Given the description of an element on the screen output the (x, y) to click on. 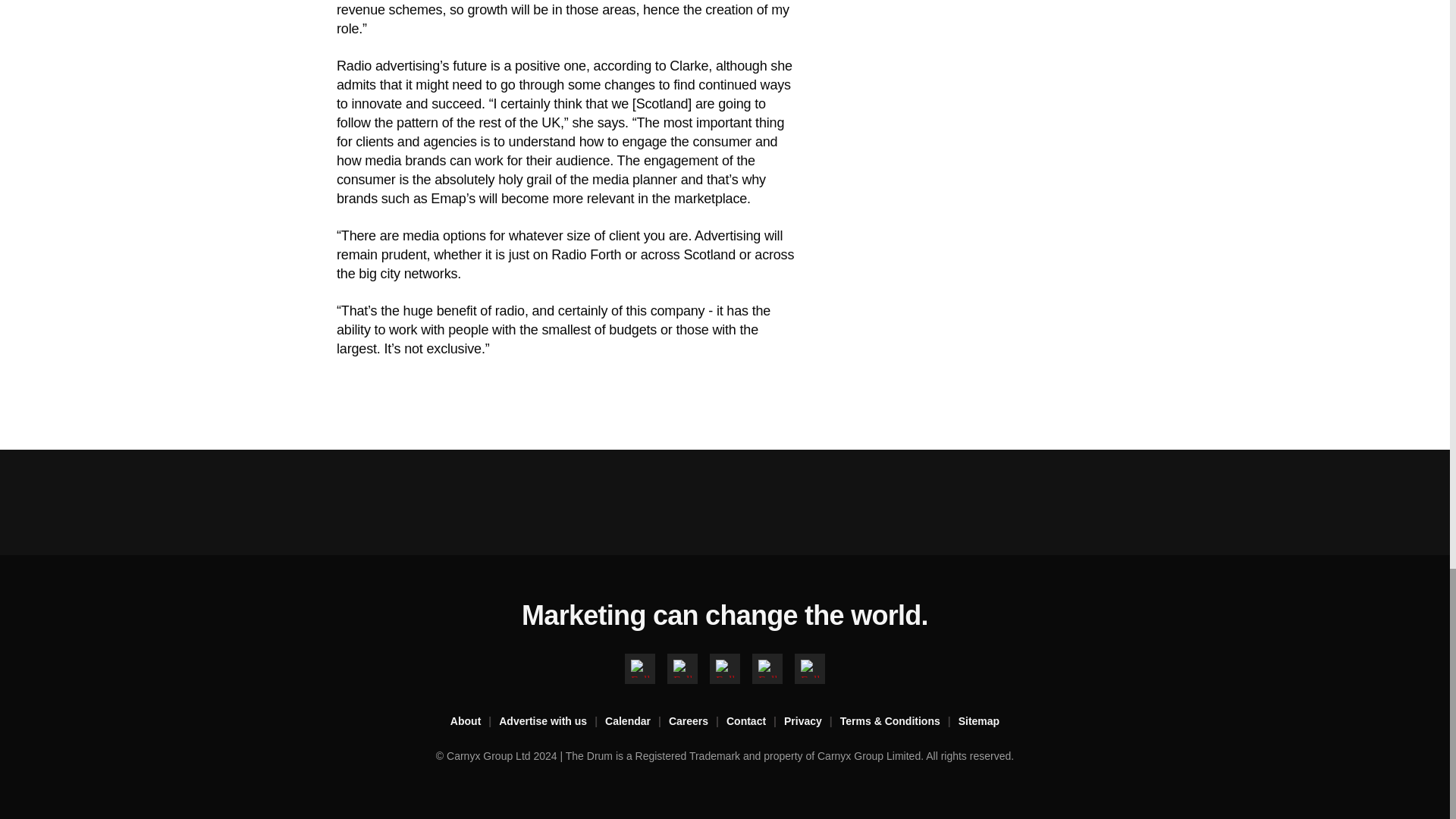
Sitemap (978, 721)
Careers (697, 721)
About (474, 721)
Advertise with us (552, 721)
Privacy (812, 721)
Contact (755, 721)
Calendar (636, 721)
